Given the description of an element on the screen output the (x, y) to click on. 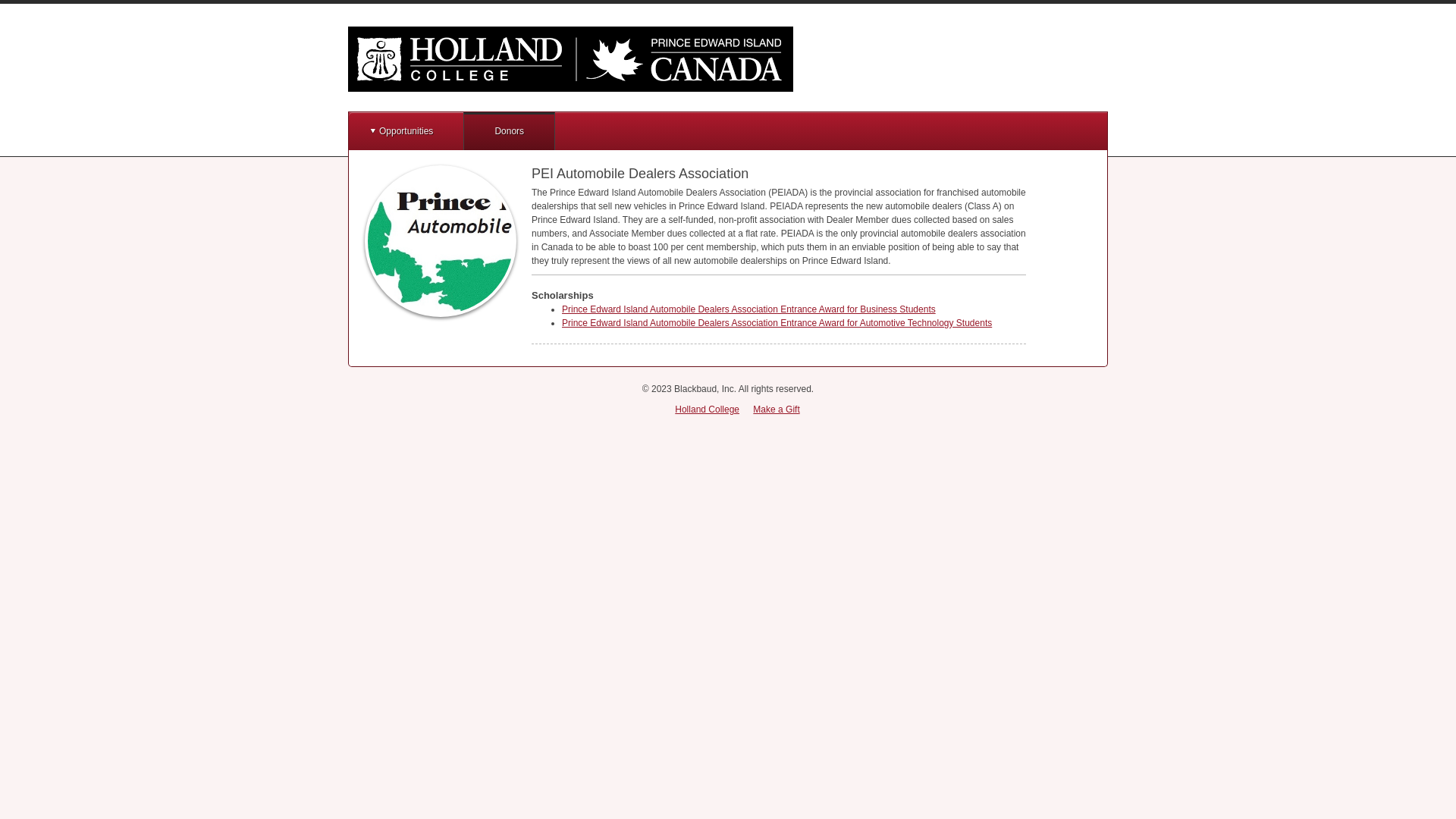
Make a Gift Element type: text (776, 409)
Holland College Awards, Bursaries, and Scholarships Element type: hover (570, 58)
Donors Element type: text (509, 131)
Opportunities Element type: text (405, 131)
Holland College Element type: text (706, 409)
